Given the description of an element on the screen output the (x, y) to click on. 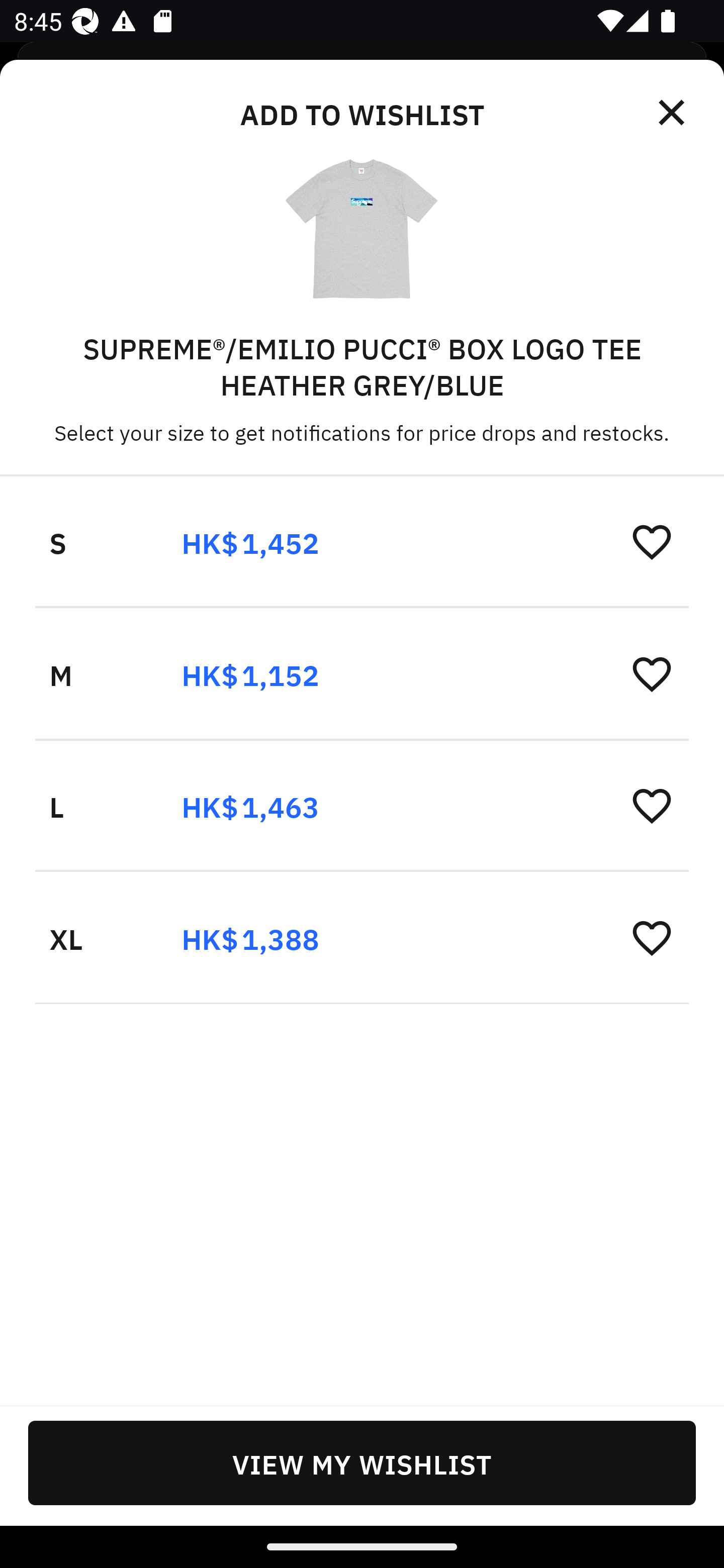
 (672, 112)
󰋕 (651, 541)
󰋕 (651, 673)
󰋕 (651, 804)
󰋕 (651, 936)
VIEW MY WISHLIST (361, 1462)
